Given the description of an element on the screen output the (x, y) to click on. 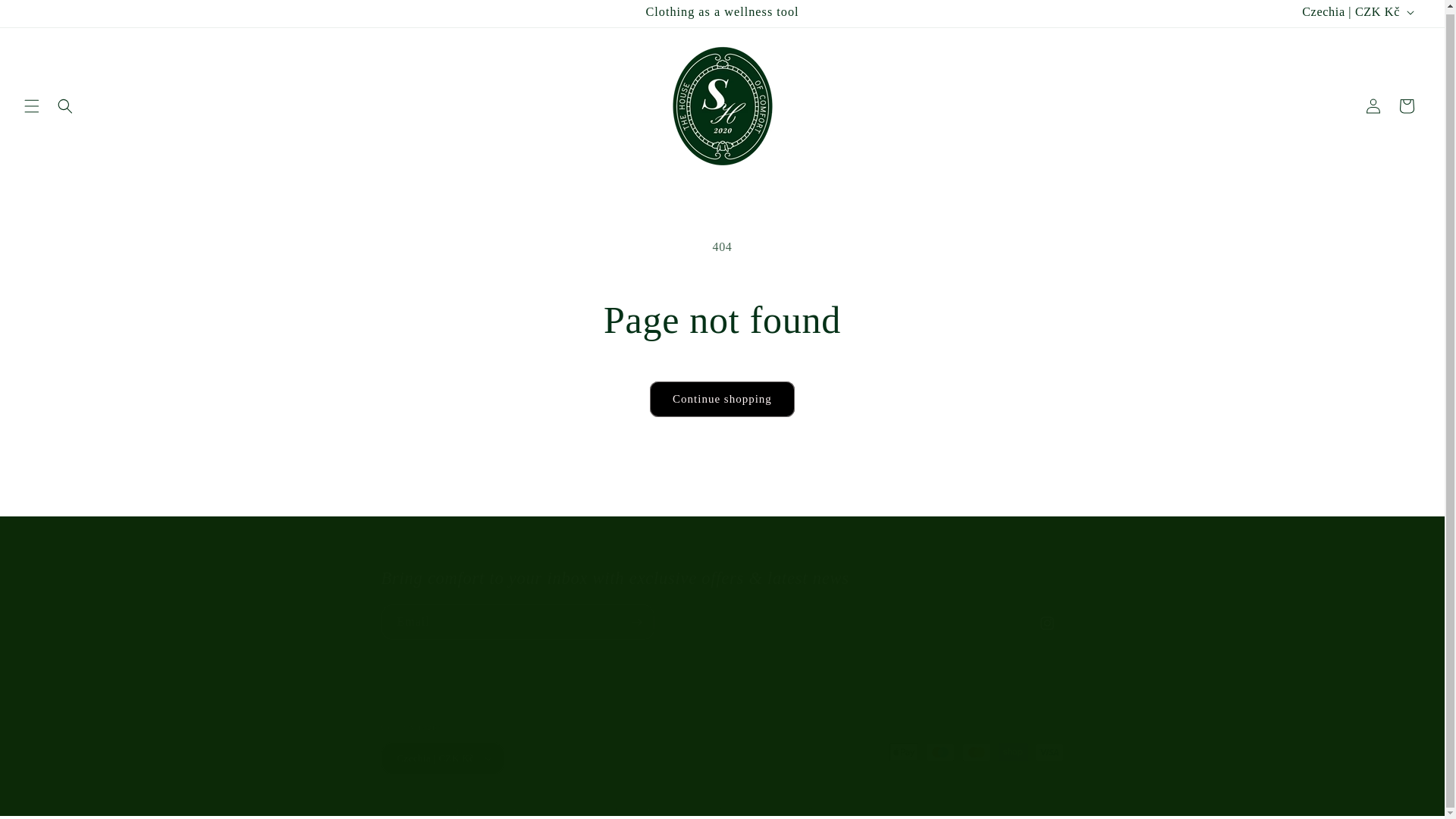
Powered by Shopify (521, 810)
Skip to content (45, 15)
Terms of service (840, 810)
Instagram (1045, 622)
Log in (1373, 105)
Refund policy (602, 810)
Continue shopping (721, 398)
Cart (1406, 105)
Privacy policy (673, 810)
Contact information (754, 810)
